Given the description of an element on the screen output the (x, y) to click on. 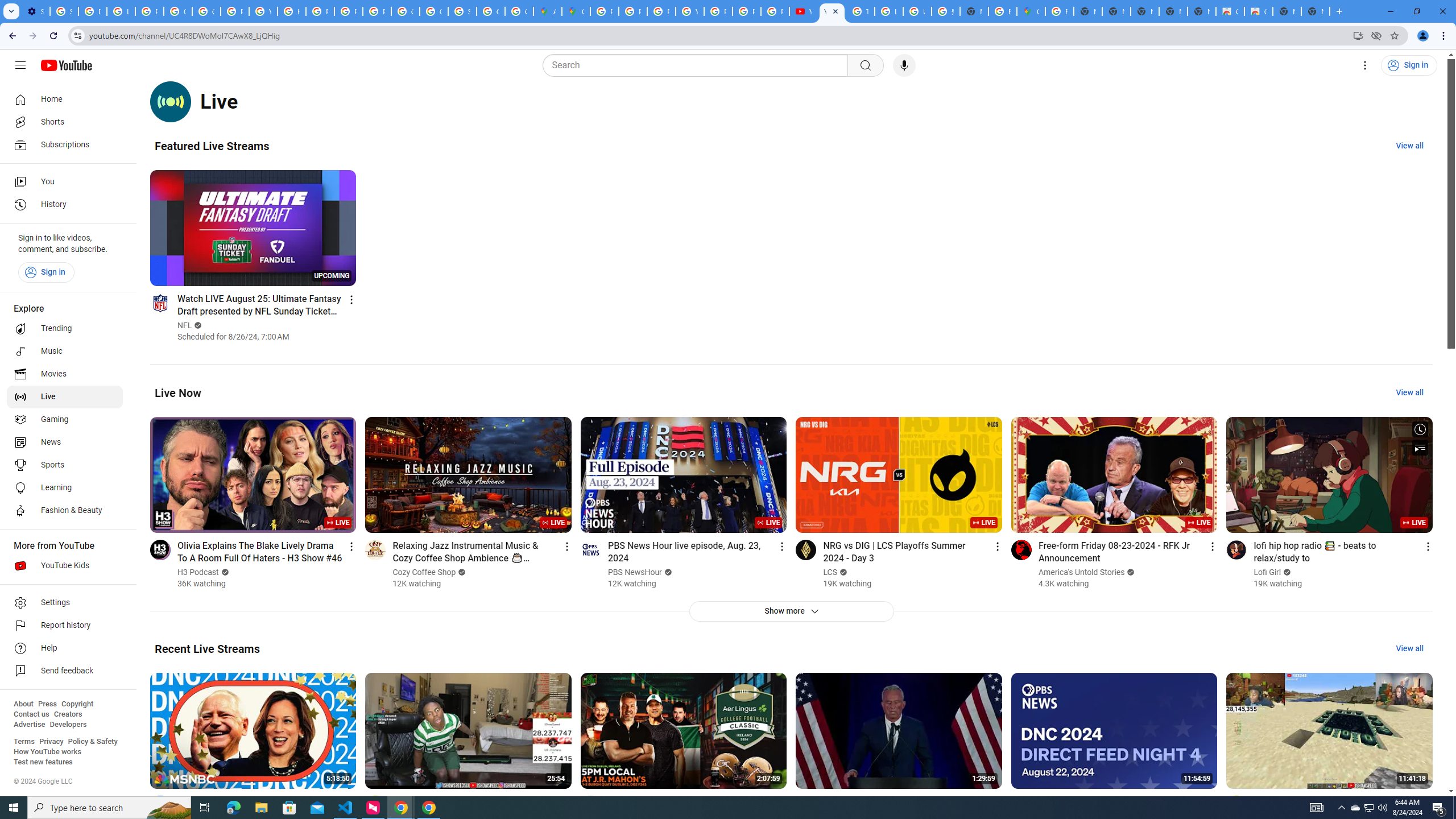
Google Maps (1030, 11)
Featured Live Streams (211, 145)
H3 Podcast (198, 572)
New Tab (1315, 11)
Policy Accountability and Transparency - Transparency Center (604, 11)
Policy & Safety (91, 741)
https://scholar.google.com/ (291, 11)
